Given the description of an element on the screen output the (x, y) to click on. 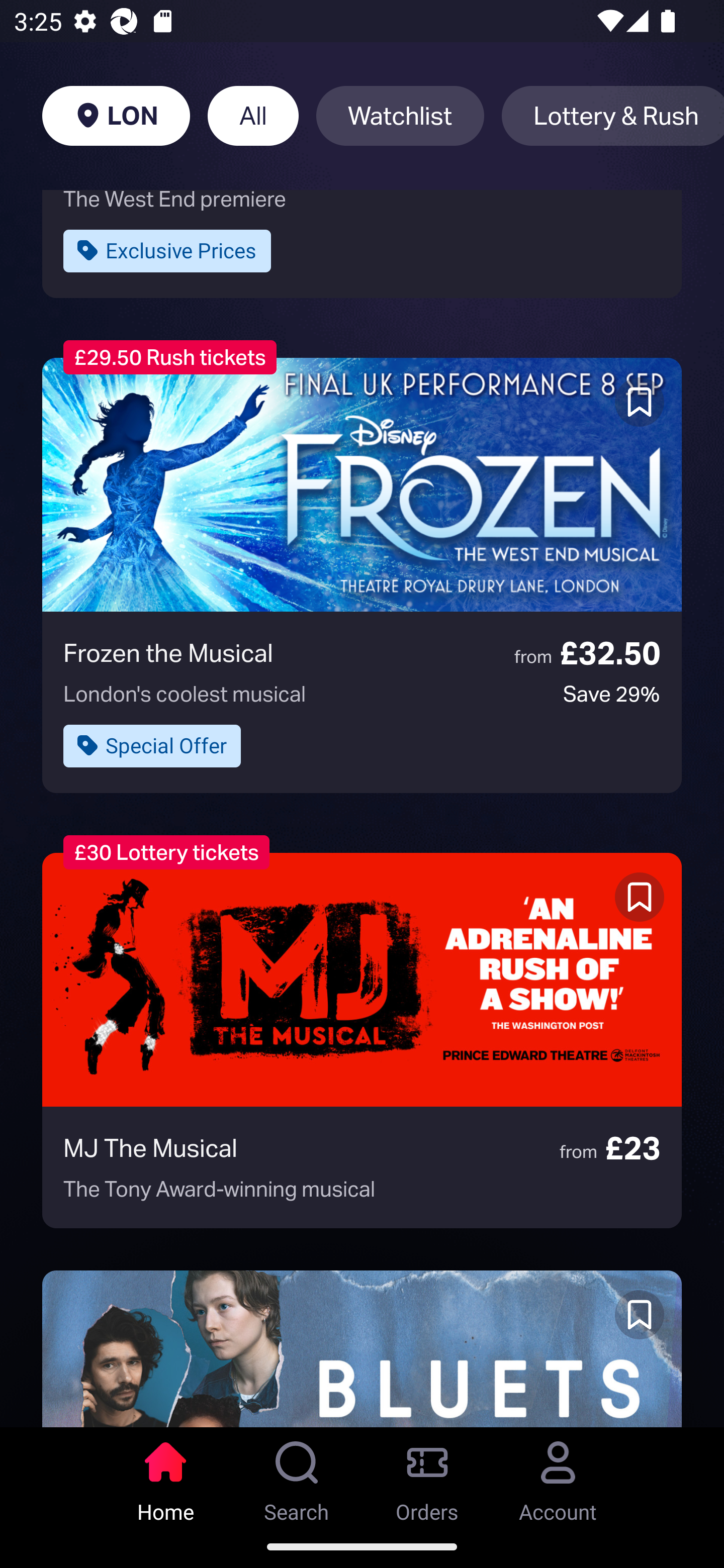
LON (115, 115)
All (252, 115)
Watchlist (400, 115)
Lottery & Rush (612, 115)
The West End premiere Exclusive Prices (361, 243)
Search (296, 1475)
Orders (427, 1475)
Account (558, 1475)
